Given the description of an element on the screen output the (x, y) to click on. 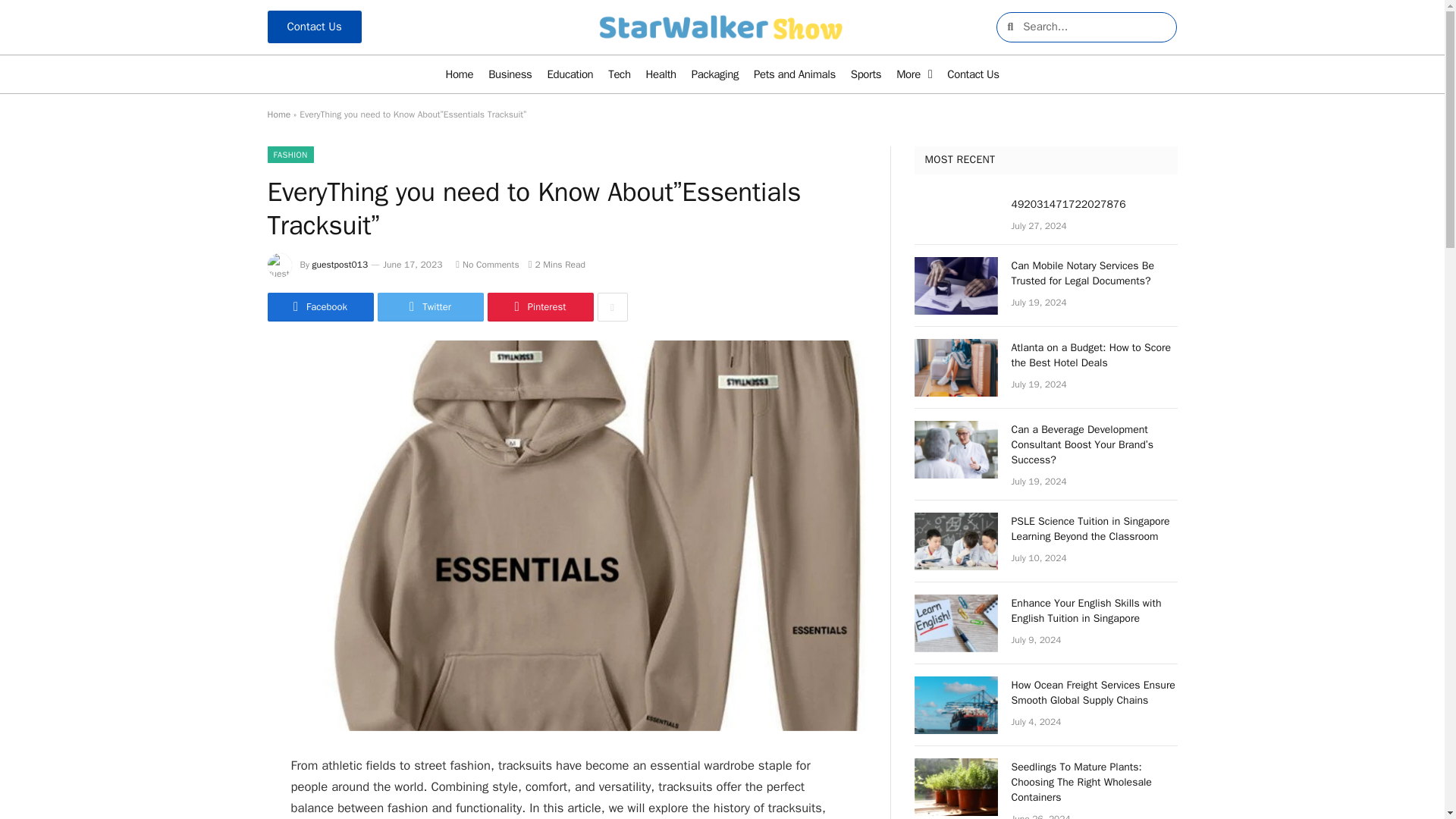
Tech (618, 74)
Sports (865, 74)
Business (509, 74)
Education (570, 74)
Home (459, 74)
Show More Social Sharing (611, 306)
Contact Us (972, 74)
Posts by guestpost013 (340, 264)
Health (661, 74)
Contact Us (313, 26)
Search (1094, 27)
Share on Twitter (430, 306)
More (913, 74)
Share on Facebook (319, 306)
Pets and Animals (794, 74)
